Given the description of an element on the screen output the (x, y) to click on. 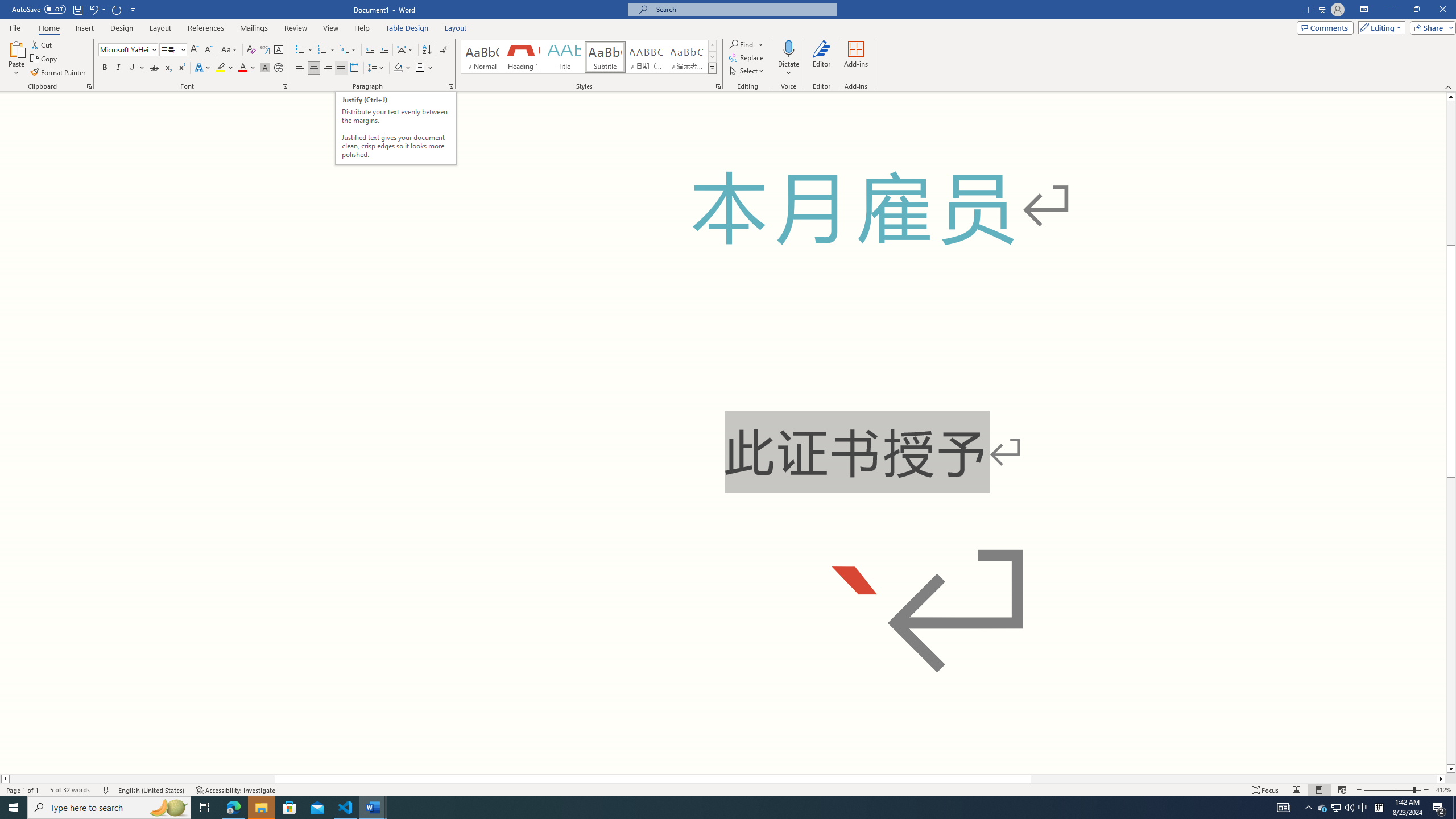
Enclose Characters... (278, 67)
Character Shading (264, 67)
Asian Layout (405, 49)
Multilevel List (347, 49)
Text Highlight Color Yellow (220, 67)
Sort... (426, 49)
Title (564, 56)
